Given the description of an element on the screen output the (x, y) to click on. 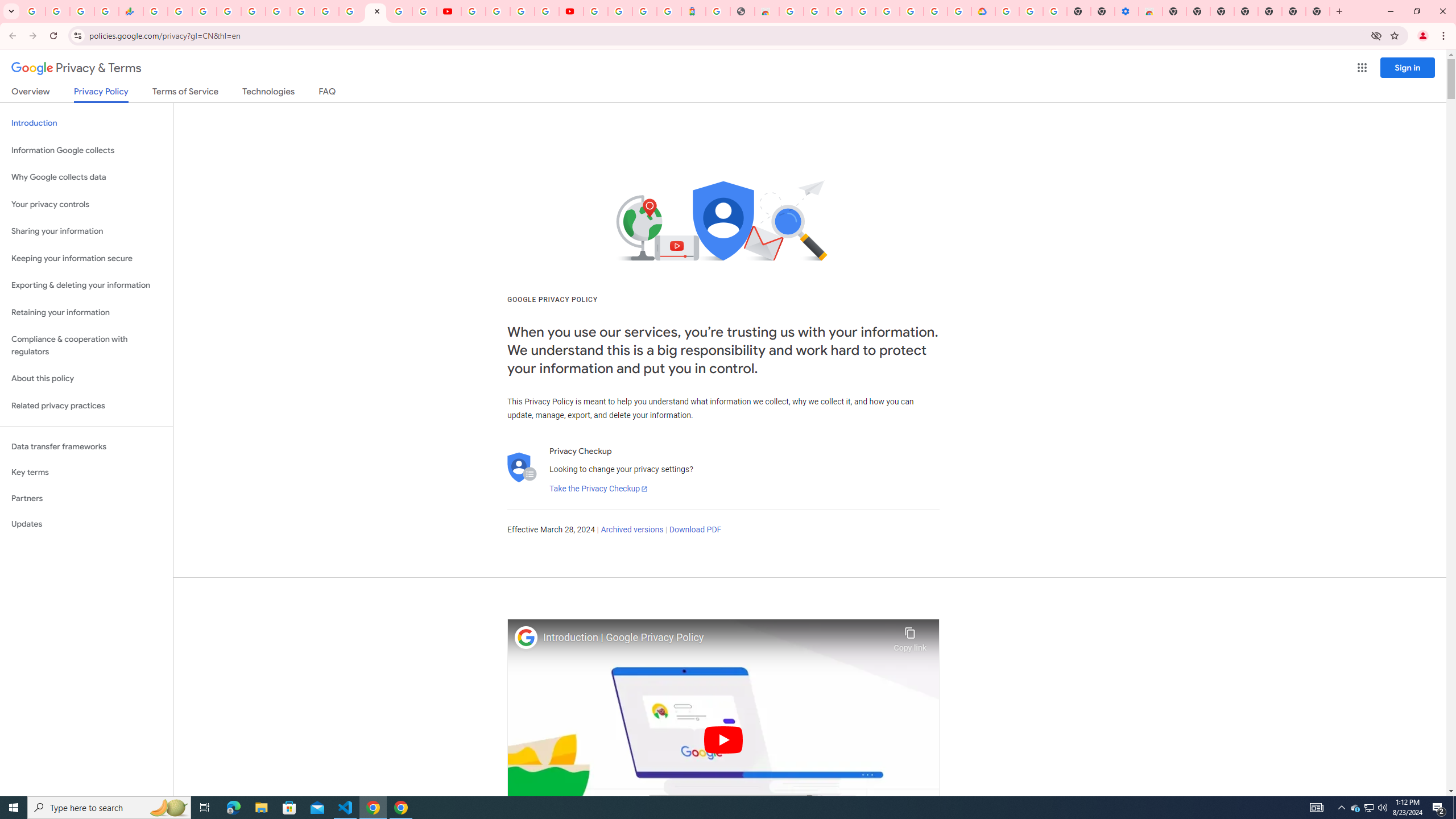
Photo image of Google (526, 636)
Sign in - Google Accounts (839, 11)
Sign in - Google Accounts (619, 11)
Sign in - Google Accounts (595, 11)
Archived versions (631, 529)
Sign in - Google Accounts (1007, 11)
YouTube (447, 11)
Settings - Accessibility (1126, 11)
